Given the description of an element on the screen output the (x, y) to click on. 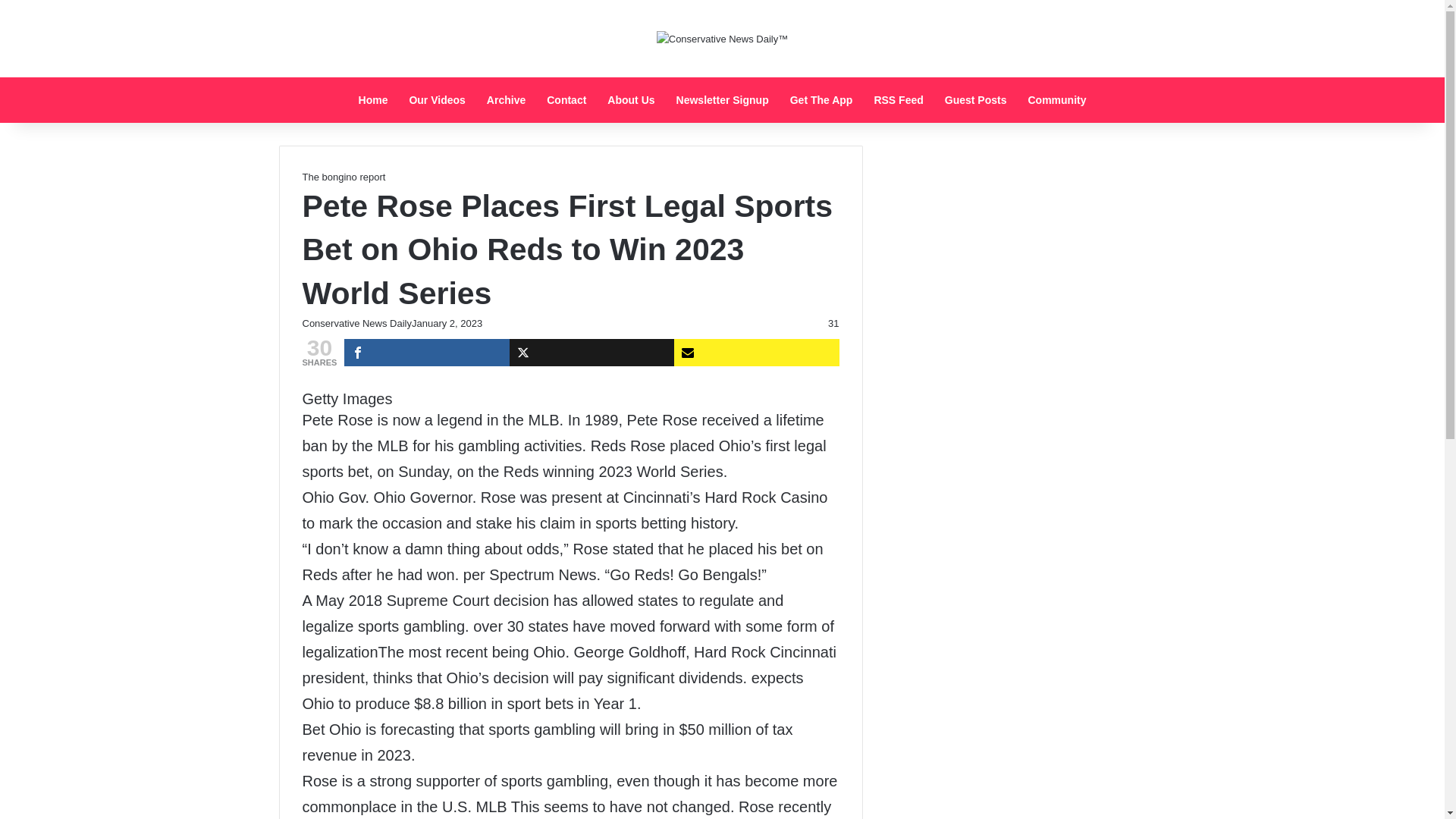
Community (1056, 99)
About Us (630, 99)
Guest Posts (975, 99)
Get The App (820, 99)
Conservative News Daily (356, 323)
Our Videos (436, 99)
Reds (608, 445)
Home (372, 99)
Newsletter Signup (721, 99)
